Given the description of an element on the screen output the (x, y) to click on. 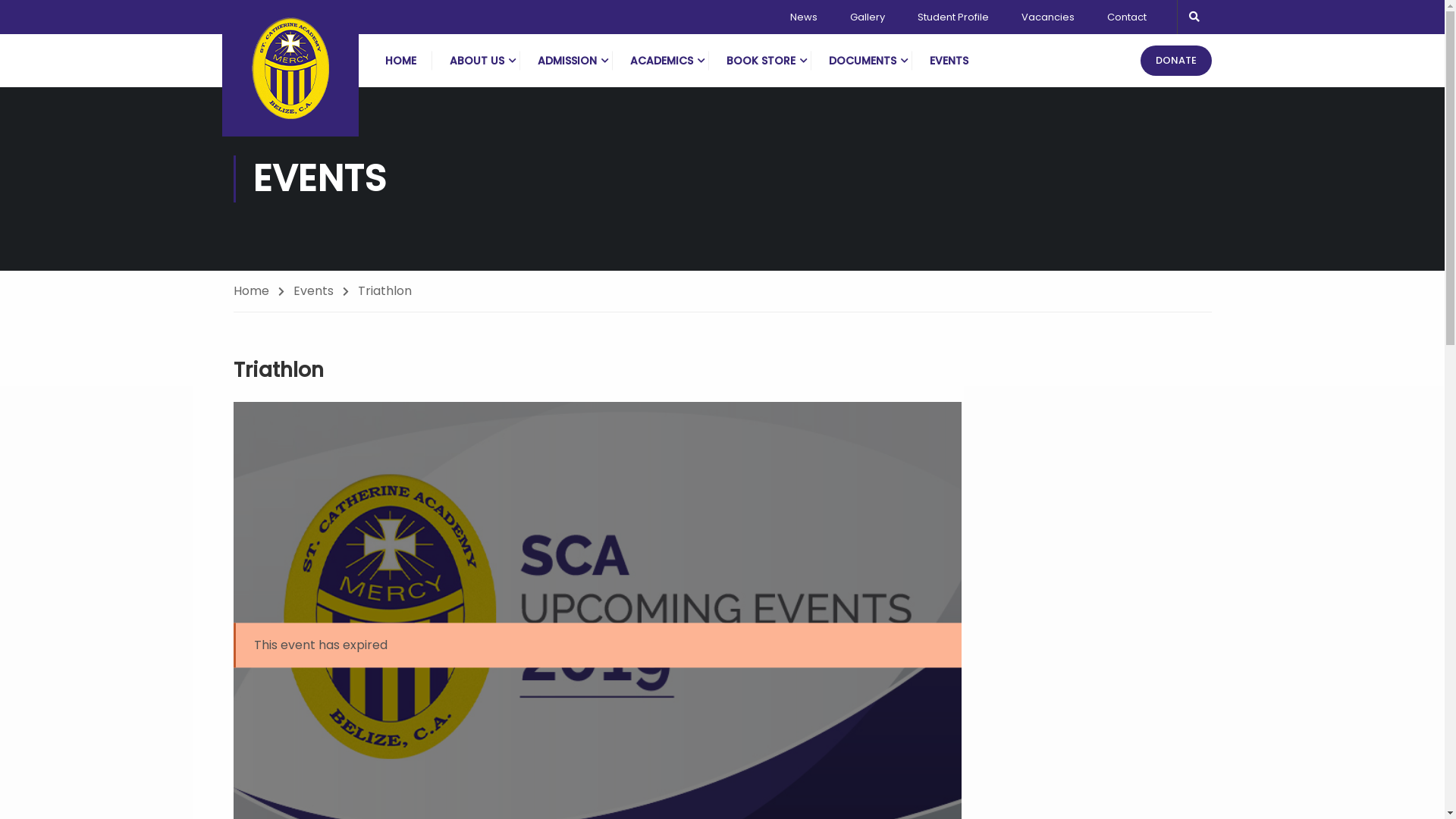
Home Element type: text (258, 291)
BOOK STORE Element type: text (760, 60)
ACADEMICS Element type: text (660, 60)
SCA - St. Catherine Academy Element type: hover (289, 68)
Contact Element type: text (1126, 16)
ABOUT US Element type: text (475, 60)
Gallery Element type: text (866, 16)
DOCUMENTS Element type: text (861, 60)
DONATE Element type: text (1175, 60)
EVENTS Element type: text (948, 60)
ADMISSION Element type: text (566, 60)
Search Element type: text (18, 15)
Events Element type: text (320, 291)
News Element type: text (803, 16)
HOME Element type: text (400, 60)
Student Profile Element type: text (952, 16)
Vacancies Element type: text (1046, 16)
